Given the description of an element on the screen output the (x, y) to click on. 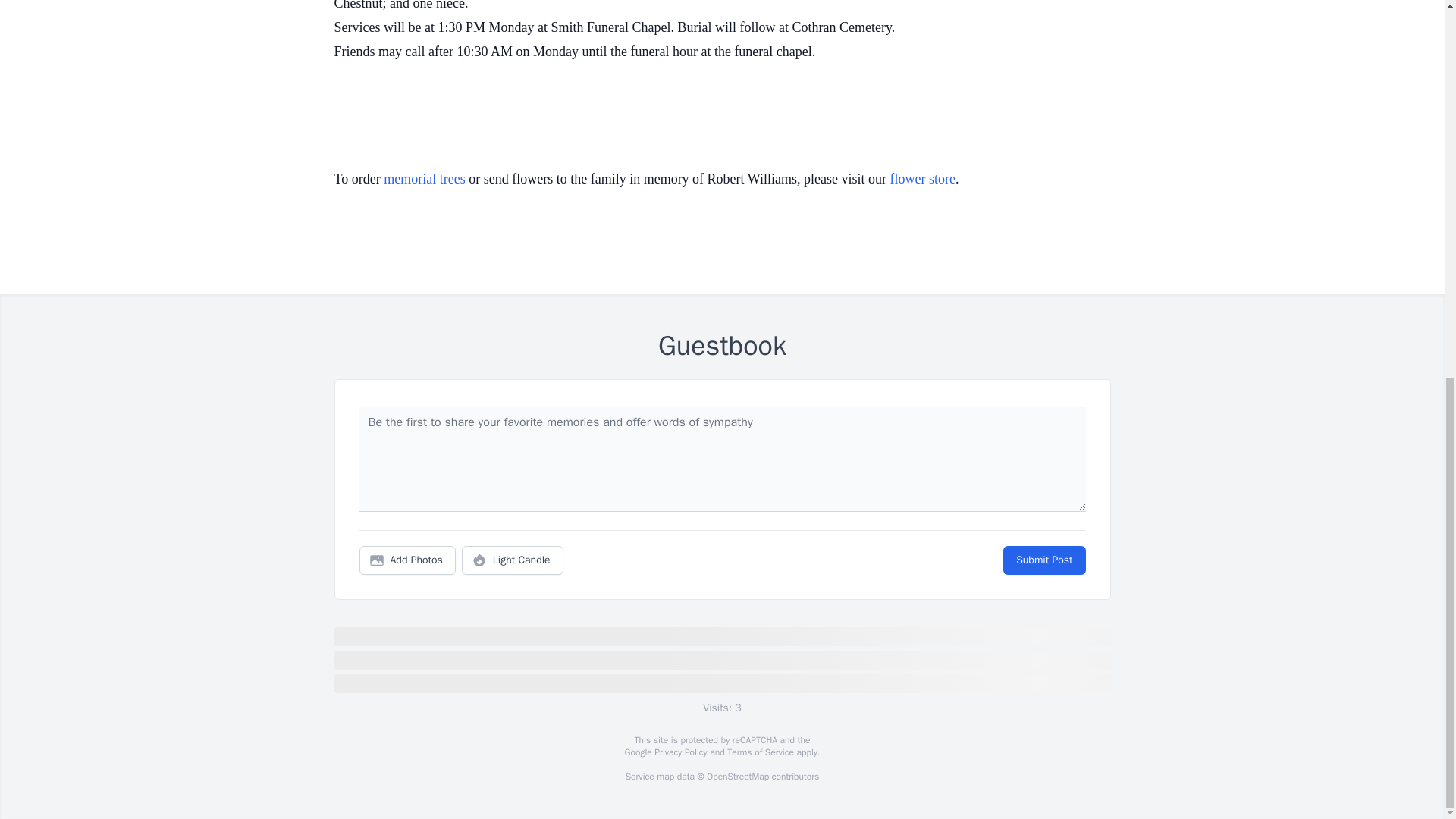
Terms of Service (759, 752)
Light Candle (512, 560)
memorial trees (424, 178)
OpenStreetMap (737, 776)
Add Photos (407, 560)
flower store (922, 178)
Privacy Policy (679, 752)
Submit Post (1043, 560)
